Given the description of an element on the screen output the (x, y) to click on. 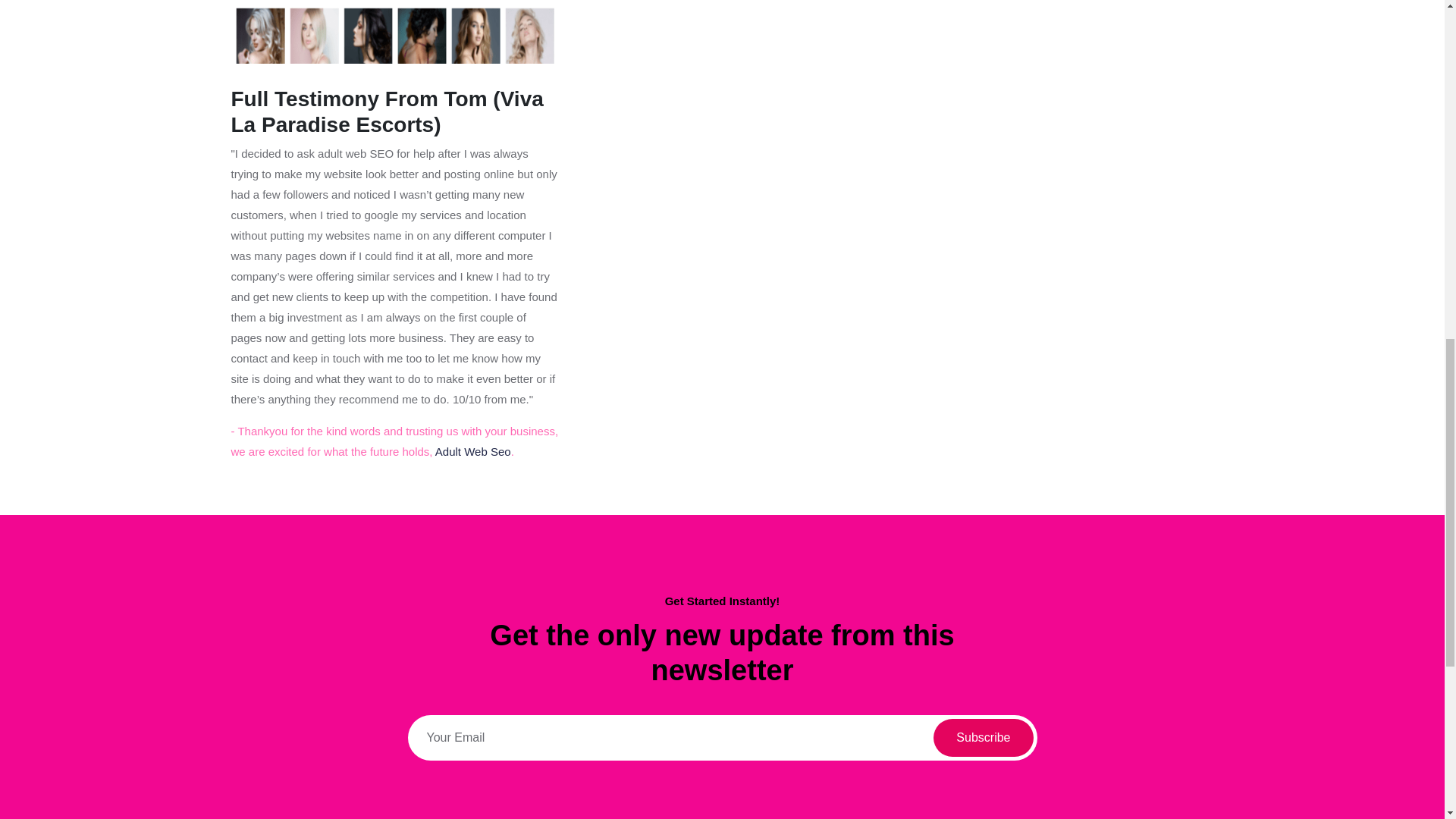
Adult Web Seo (473, 451)
Subscribe (982, 737)
Adult Web Seo (473, 451)
